Given the description of an element on the screen output the (x, y) to click on. 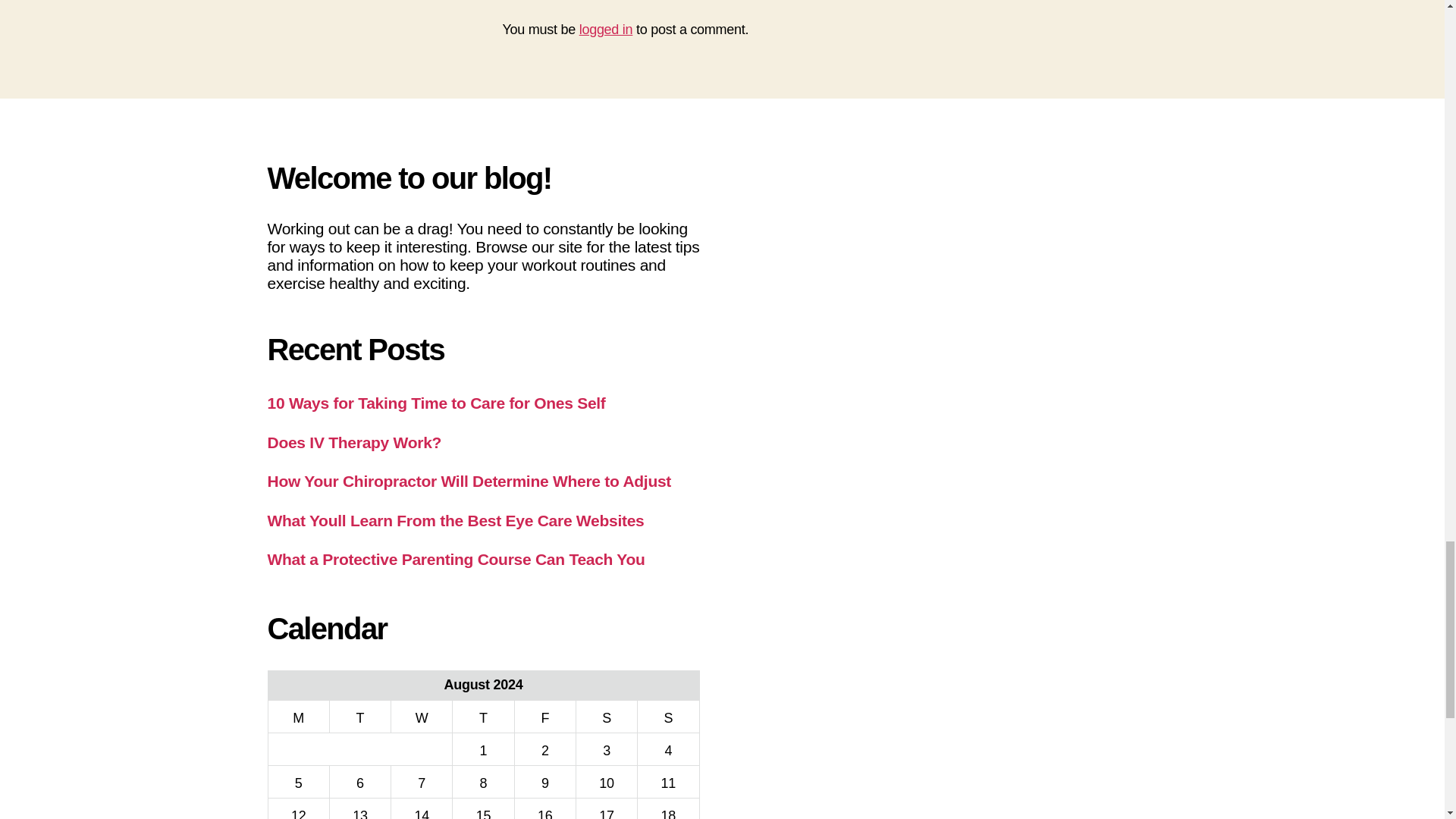
Sunday (667, 716)
Thursday (482, 716)
What Youll Learn From the Best Eye Care Websites (454, 520)
Monday (298, 716)
Tuesday (359, 716)
logged in (606, 29)
How Your Chiropractor Will Determine Where to Adjust (468, 480)
What a Protective Parenting Course Can Teach You (455, 559)
Saturday (606, 716)
10 Ways for Taking Time to Care for Ones Self (435, 402)
Friday (544, 716)
Wednesday (421, 716)
Does IV Therapy Work? (353, 442)
